Given the description of an element on the screen output the (x, y) to click on. 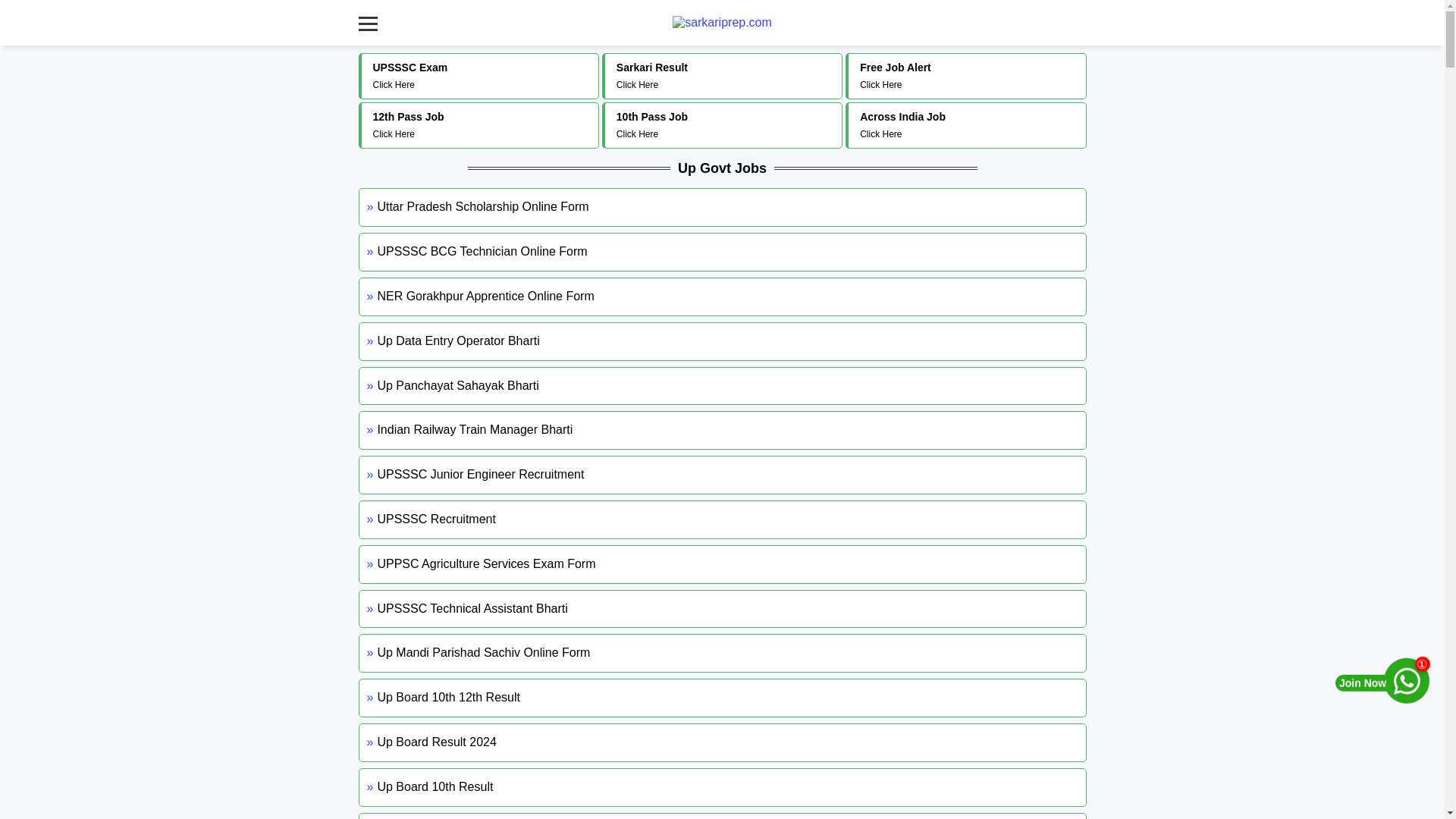
Up Board 12th Result (722, 124)
Up Mandi Parishad Sachiv Online Form (722, 474)
UPSSSC Recruitment (722, 652)
UPSSSC Technical Assistant Bharti (722, 519)
Up Board 10th 12th Result (967, 75)
Up Panchayat Sahayak Bharti (722, 608)
Up Data Entry Operator Bharti (479, 75)
Up Board 10th Result (722, 697)
UPSSSC BCG Technician Online Form (722, 385)
